Given the description of an element on the screen output the (x, y) to click on. 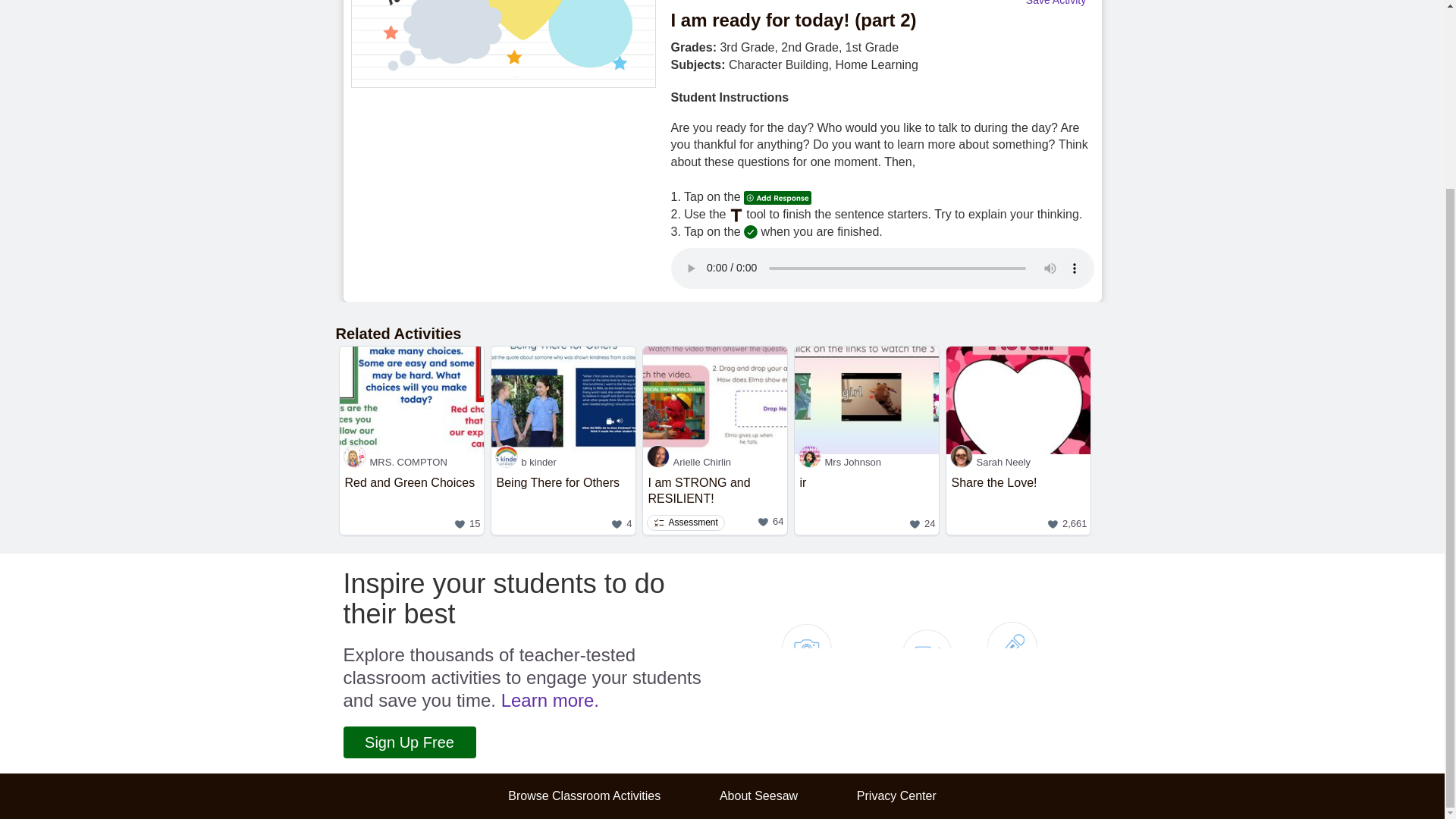
Sarah Neely (1018, 462)
Learn more. (563, 502)
Browse Classroom Activities (549, 700)
Arielle Chirlin (584, 796)
Sign Up Free (715, 462)
Save Activity (409, 742)
Mrs Johnson (866, 502)
